Given the description of an element on the screen output the (x, y) to click on. 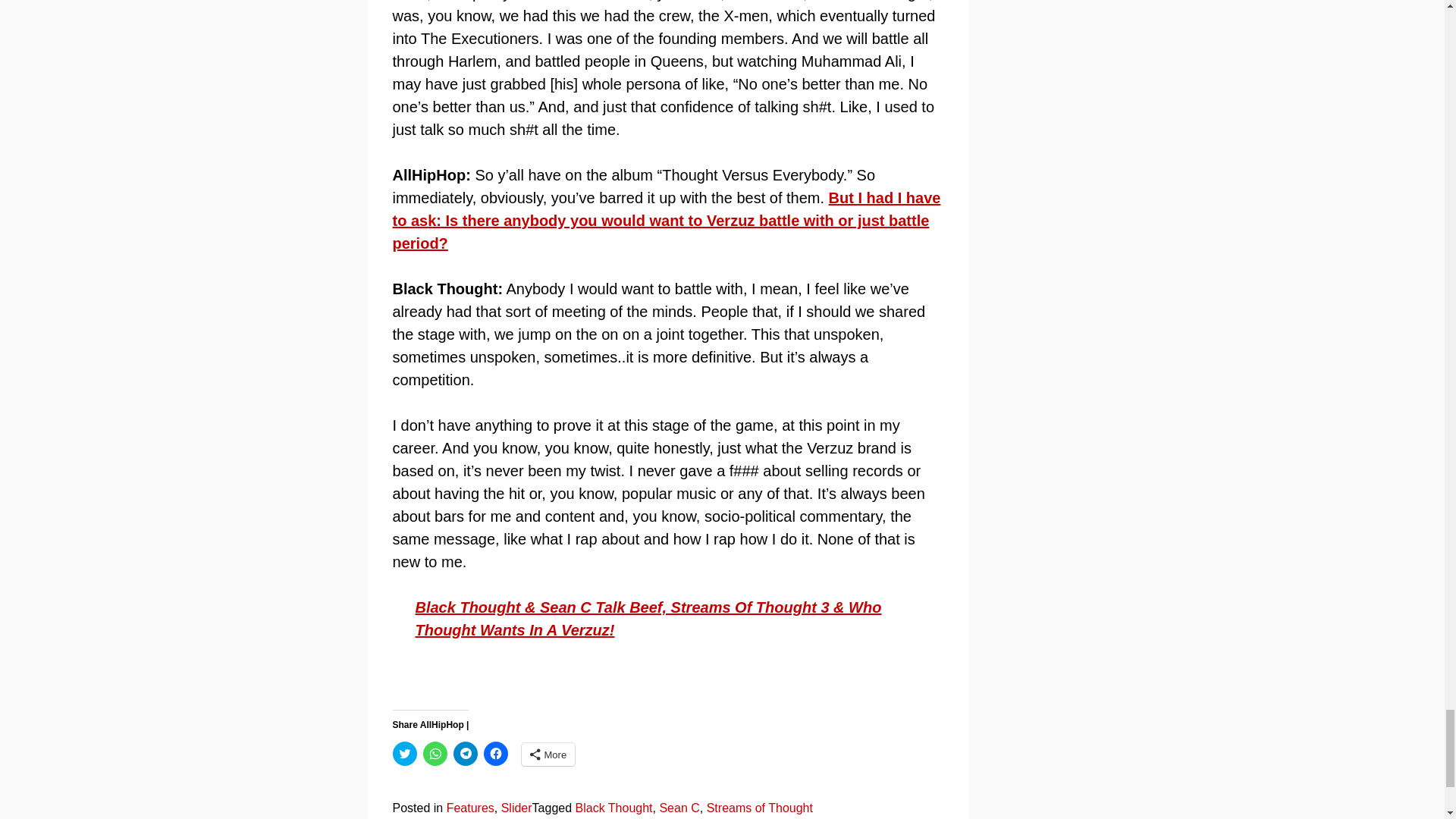
Click to share on Twitter (404, 753)
Click to share on WhatsApp (434, 753)
Click to share on Telegram (464, 753)
Click to share on Facebook (495, 753)
